Given the description of an element on the screen output the (x, y) to click on. 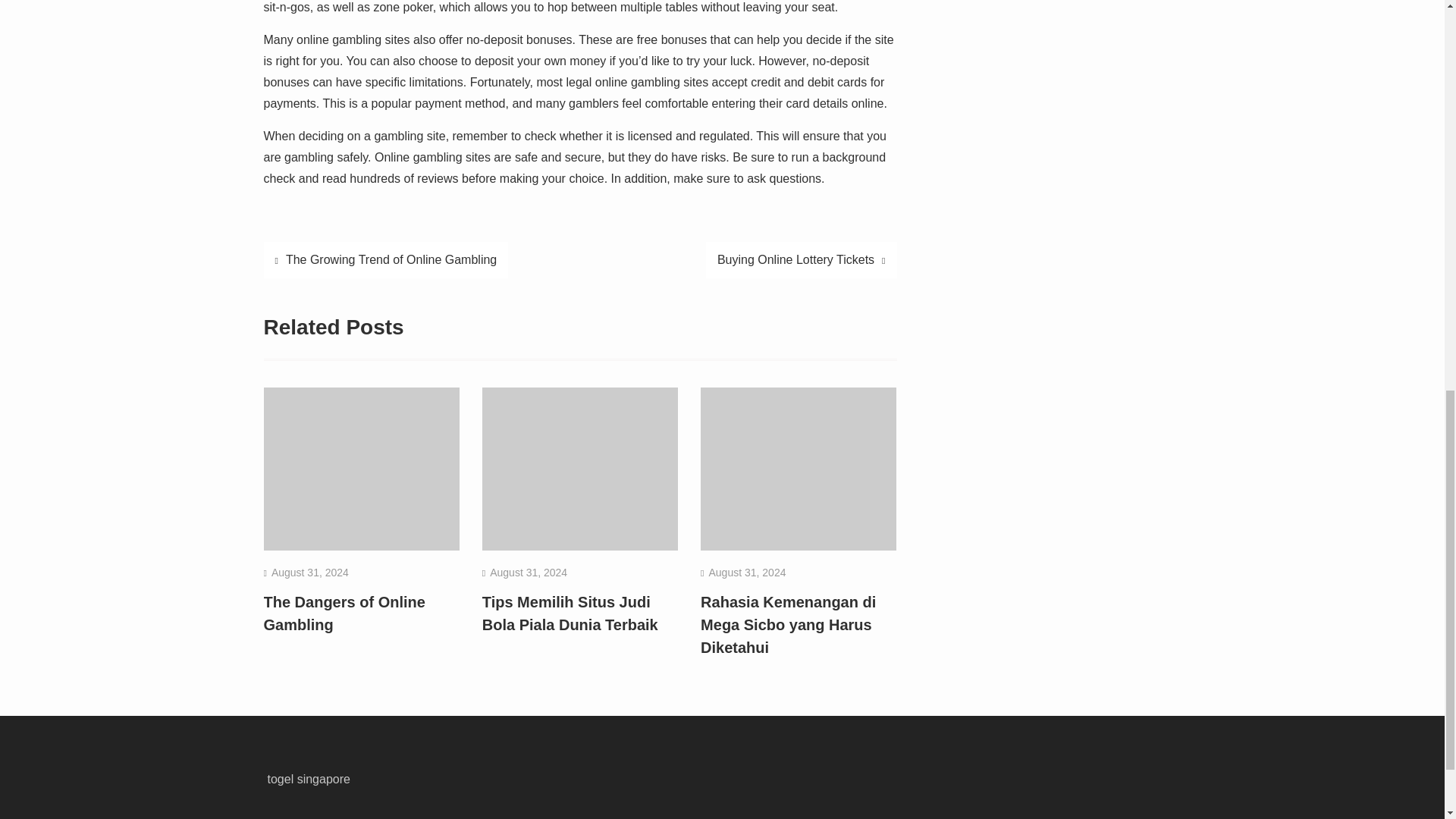
Tips Memilih Situs Judi Bola Piala Dunia Terbaik (569, 613)
Buying Online Lottery Tickets (801, 259)
togel singapore (307, 779)
The Dangers of Online Gambling (344, 613)
Rahasia Kemenangan di Mega Sicbo yang Harus Diketahui (788, 624)
The Growing Trend of Online Gambling (385, 259)
